Given the description of an element on the screen output the (x, y) to click on. 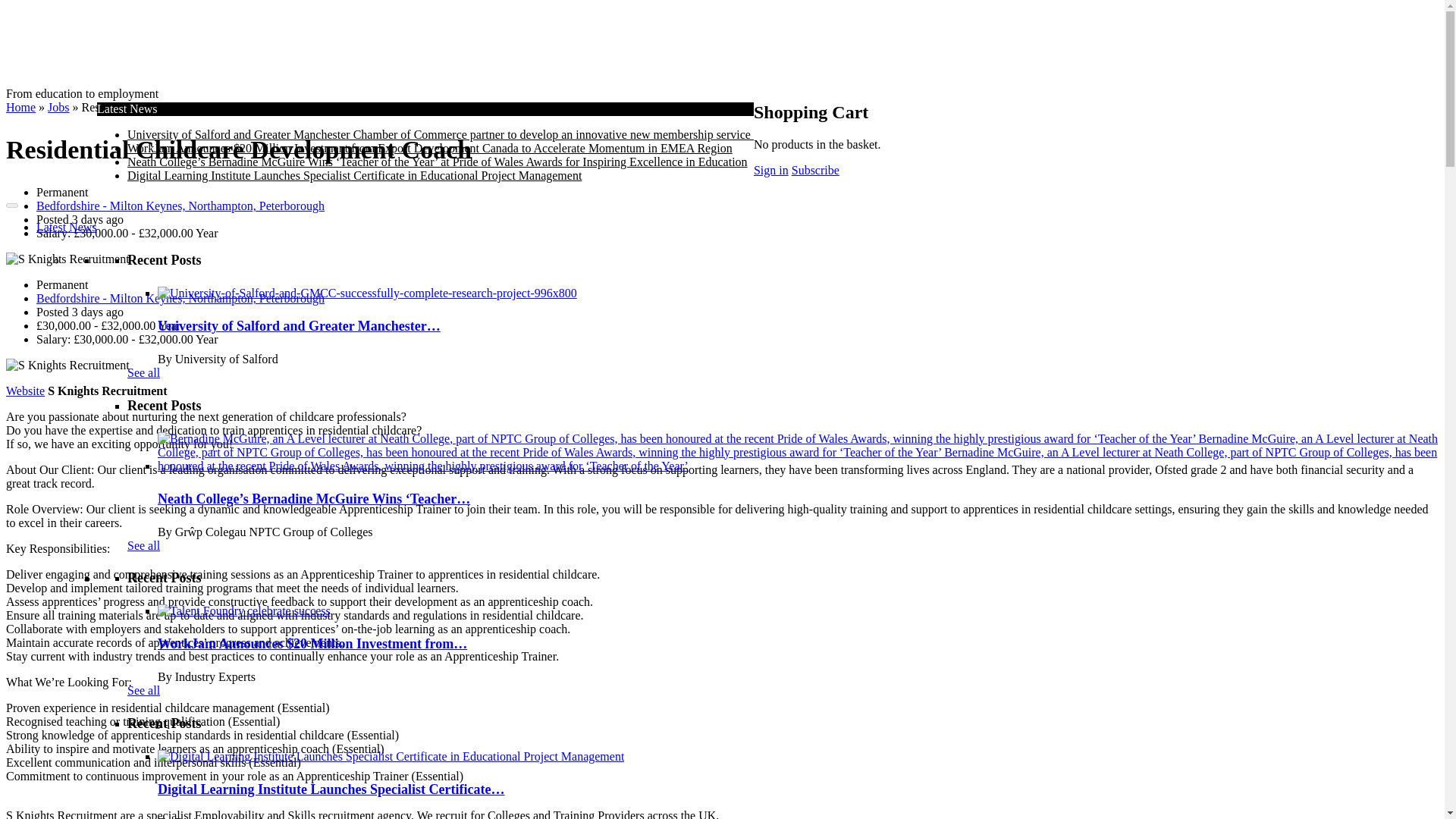
Subscribe (816, 169)
See all (144, 544)
See all (144, 372)
Sign in (771, 169)
See all (144, 689)
Latest News (66, 226)
